Given the description of an element on the screen output the (x, y) to click on. 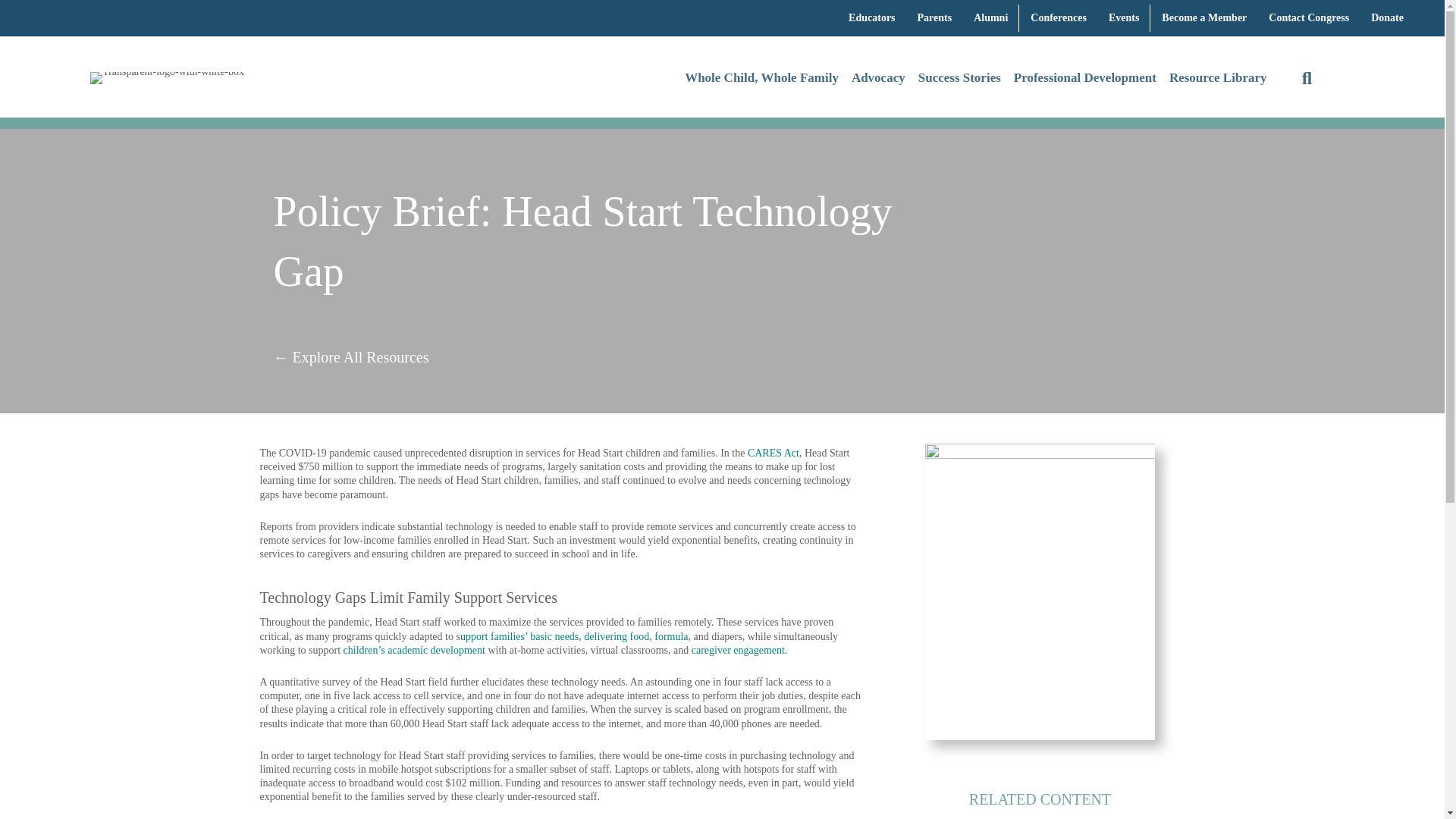
Educators (871, 17)
Advocacy (878, 78)
caregiver engagement (737, 650)
Resource Library (1217, 78)
Events (1123, 17)
CARES Act (773, 452)
Contact Congress (1308, 17)
Whole Child, Whole Family (761, 78)
Donate (1386, 17)
Conferences (1058, 17)
